Given the description of an element on the screen output the (x, y) to click on. 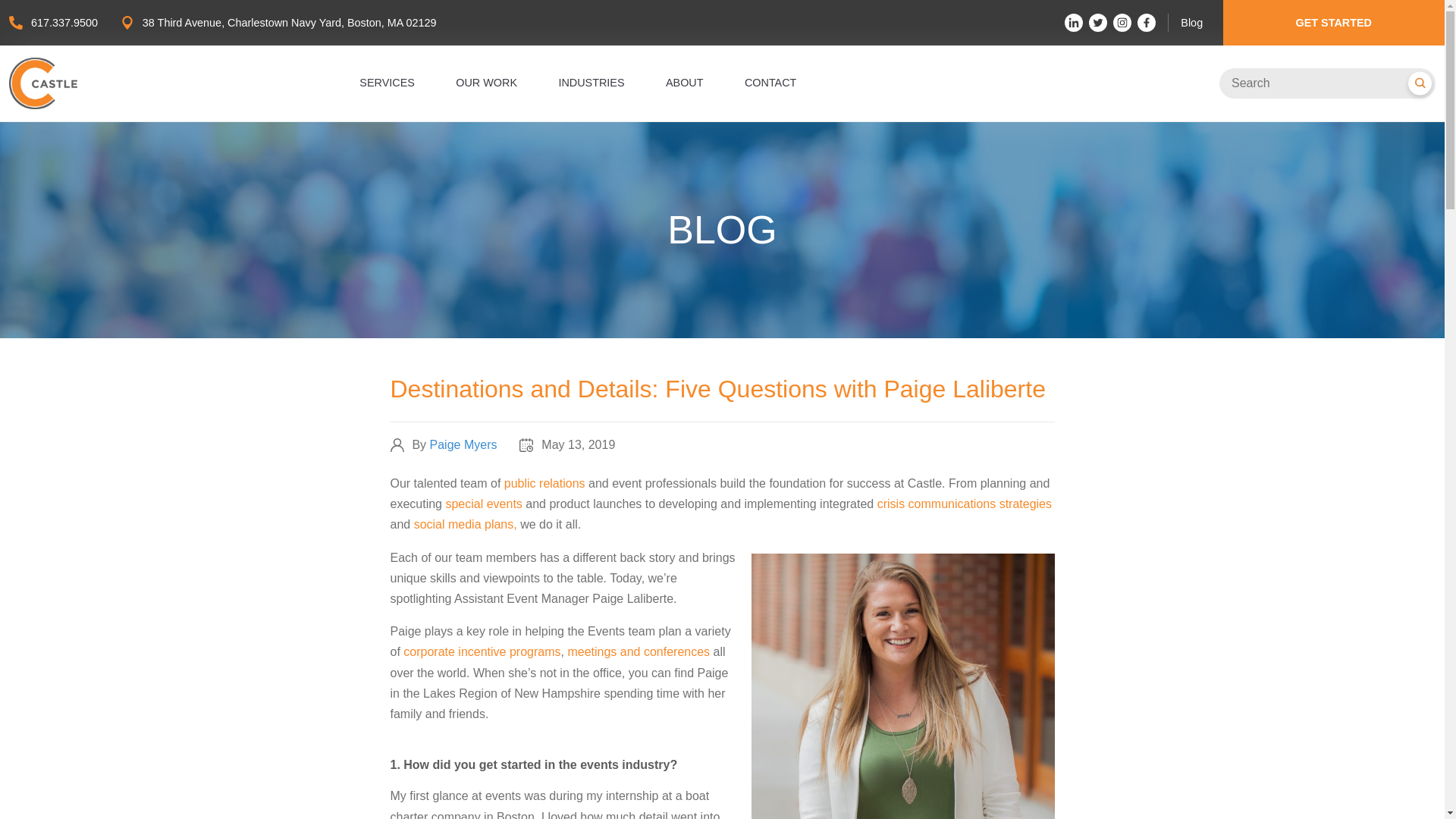
Blog (1191, 22)
Instagram (1122, 22)
OUR WORK (485, 82)
617.337.9500 (63, 22)
LinkedIn (1073, 22)
ABOUT (684, 82)
38 Third Avenue, Charlestown Navy Yard, Boston, MA 02129 (289, 22)
Twitter (1097, 22)
SERVICES (386, 82)
Back to The Castle Group Homepage (42, 82)
